Given the description of an element on the screen output the (x, y) to click on. 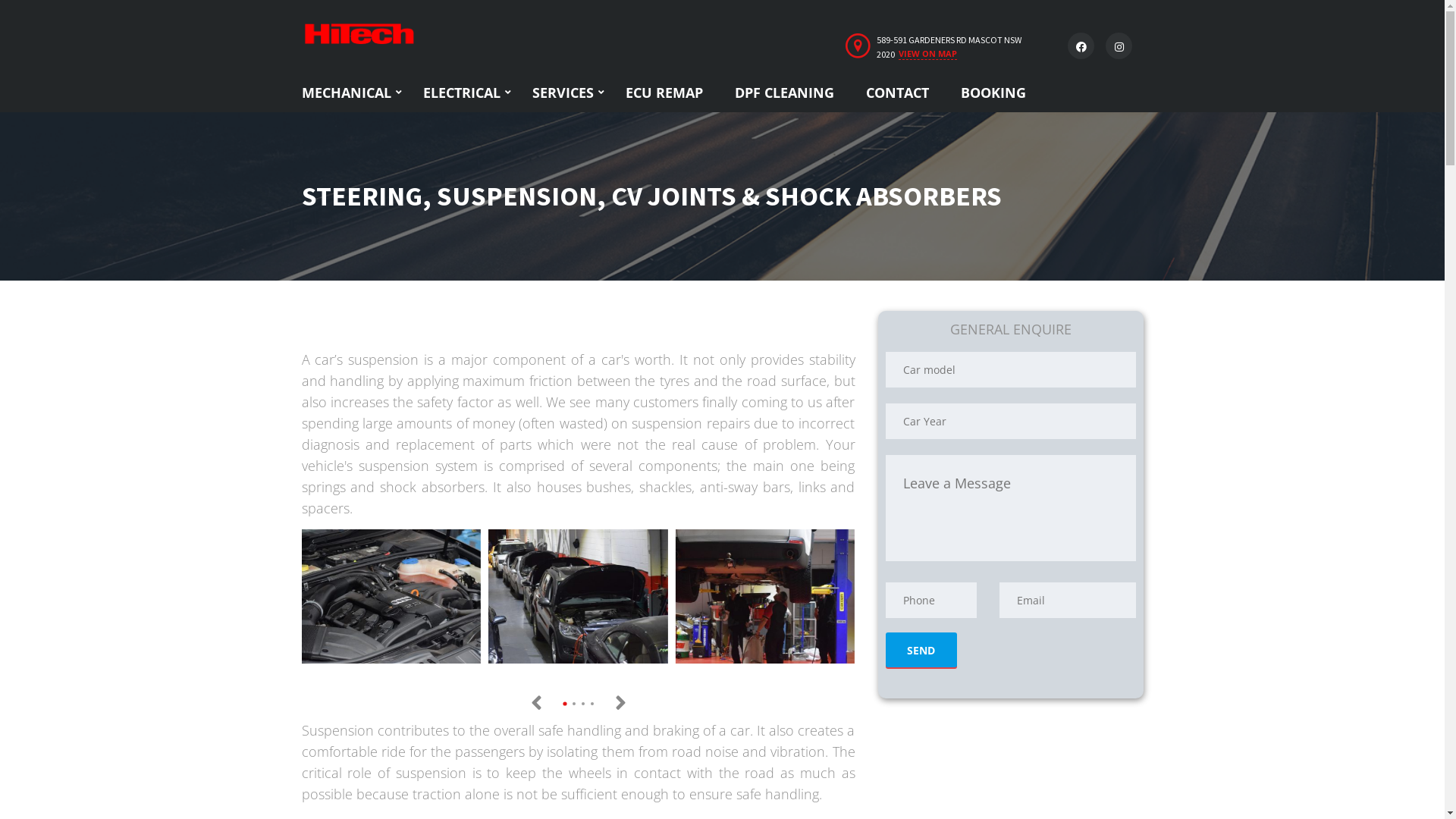
CONTACT Element type: text (896, 92)
ECU REMAP Element type: text (663, 92)
MECHANICAL Element type: text (345, 92)
SERVICES Element type: text (561, 92)
ELECTRICAL Element type: text (460, 92)
Home Element type: hover (358, 32)
Watch in popup Element type: hover (765, 596)
DPF CLEANING Element type: text (784, 92)
Watch in popup Element type: hover (390, 596)
Watch in popup Element type: hover (578, 596)
Send Element type: text (921, 649)
BOOKING Element type: text (992, 92)
